Given the description of an element on the screen output the (x, y) to click on. 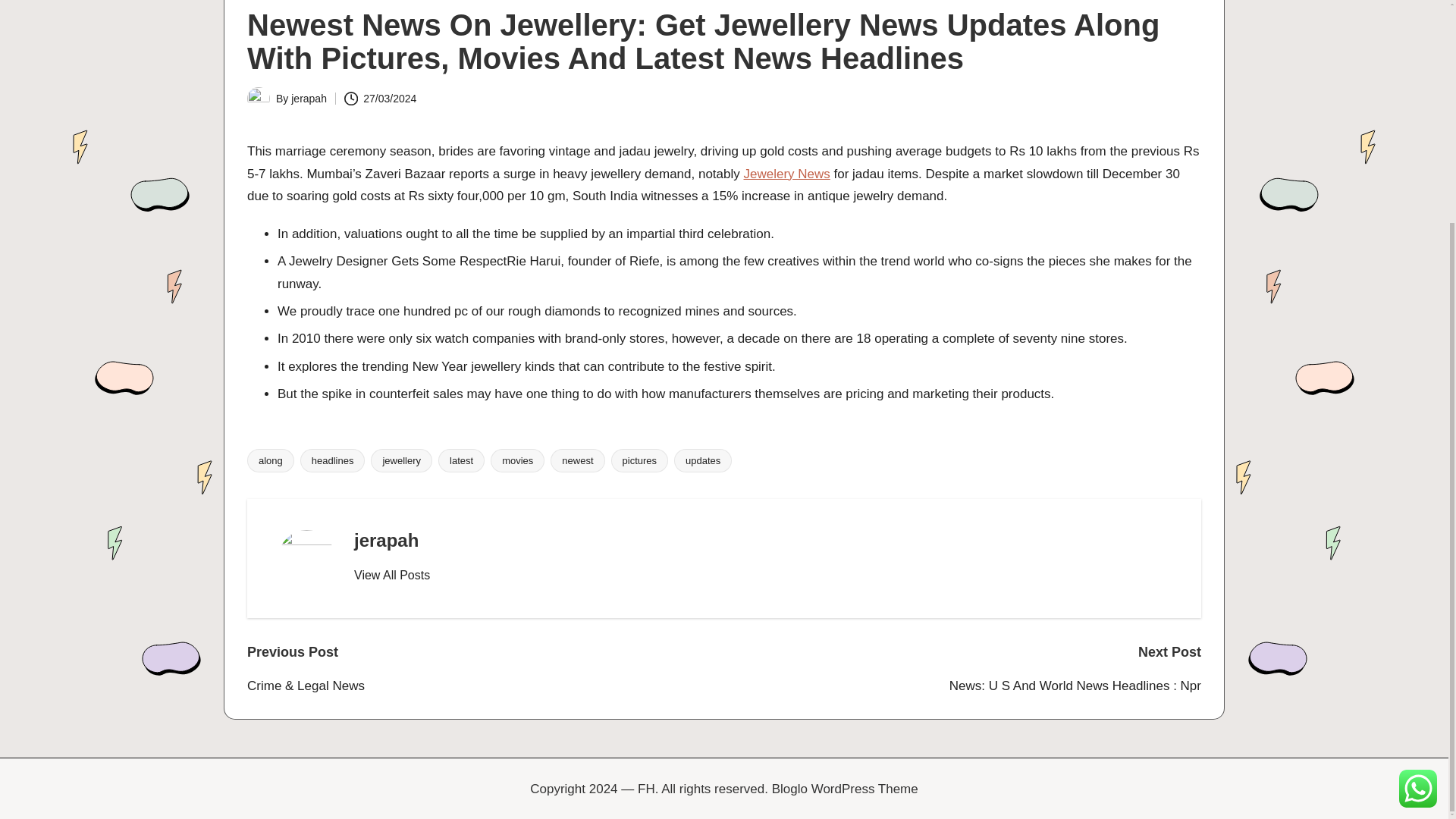
Jewelery News (785, 173)
updates (703, 460)
along (270, 460)
View all posts by jerapah (308, 98)
News: U S And World News Headlines : Npr (962, 686)
pictures (639, 460)
Bloglo WordPress Theme (844, 789)
newest (577, 460)
headlines (332, 460)
jewellery (401, 460)
